Given the description of an element on the screen output the (x, y) to click on. 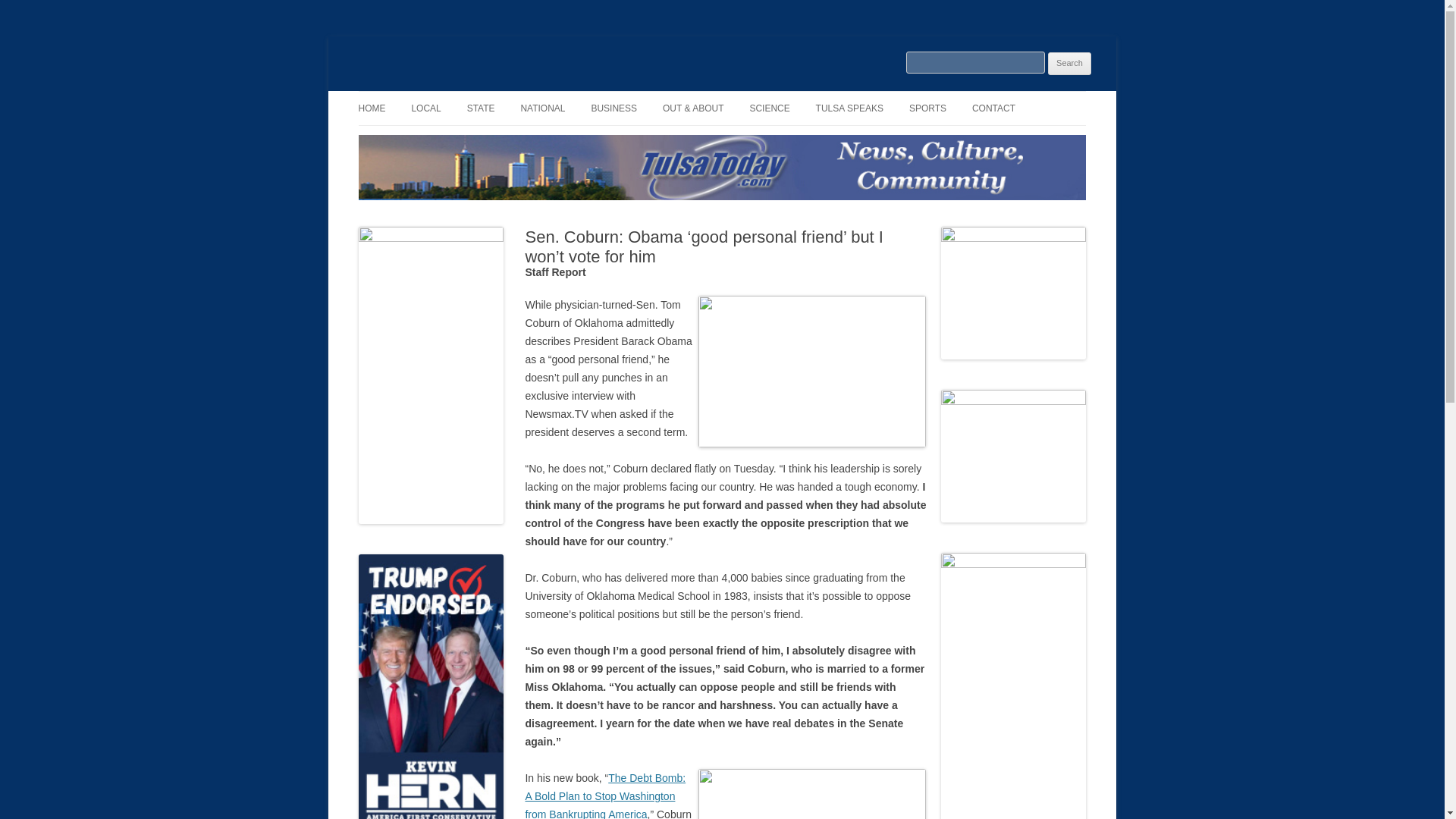
NATIONAL (541, 108)
Skip to content (757, 95)
SCIENCE (769, 108)
Search (1069, 63)
opens new window (604, 795)
Skip to content (757, 95)
Search (1069, 63)
TULSA SPEAKS (849, 108)
SPORTS (927, 108)
CONTACT (993, 108)
BUSINESS (614, 108)
